Given the description of an element on the screen output the (x, y) to click on. 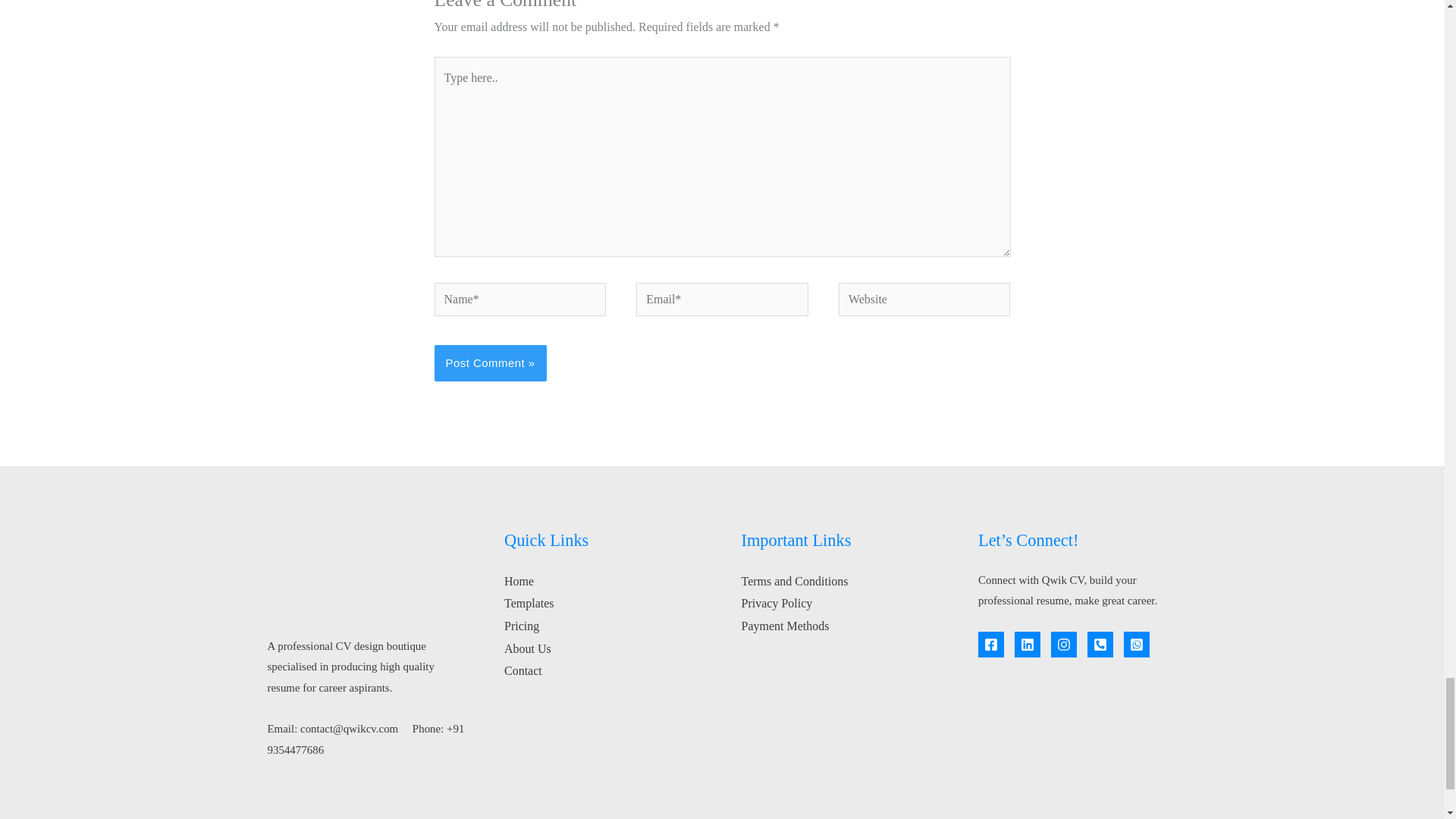
Pricing (520, 625)
Privacy Policy (776, 603)
Home (518, 581)
Terms and Conditions (794, 581)
About Us (527, 648)
Contact (522, 670)
Payment Methods (785, 625)
Templates (528, 603)
